Given the description of an element on the screen output the (x, y) to click on. 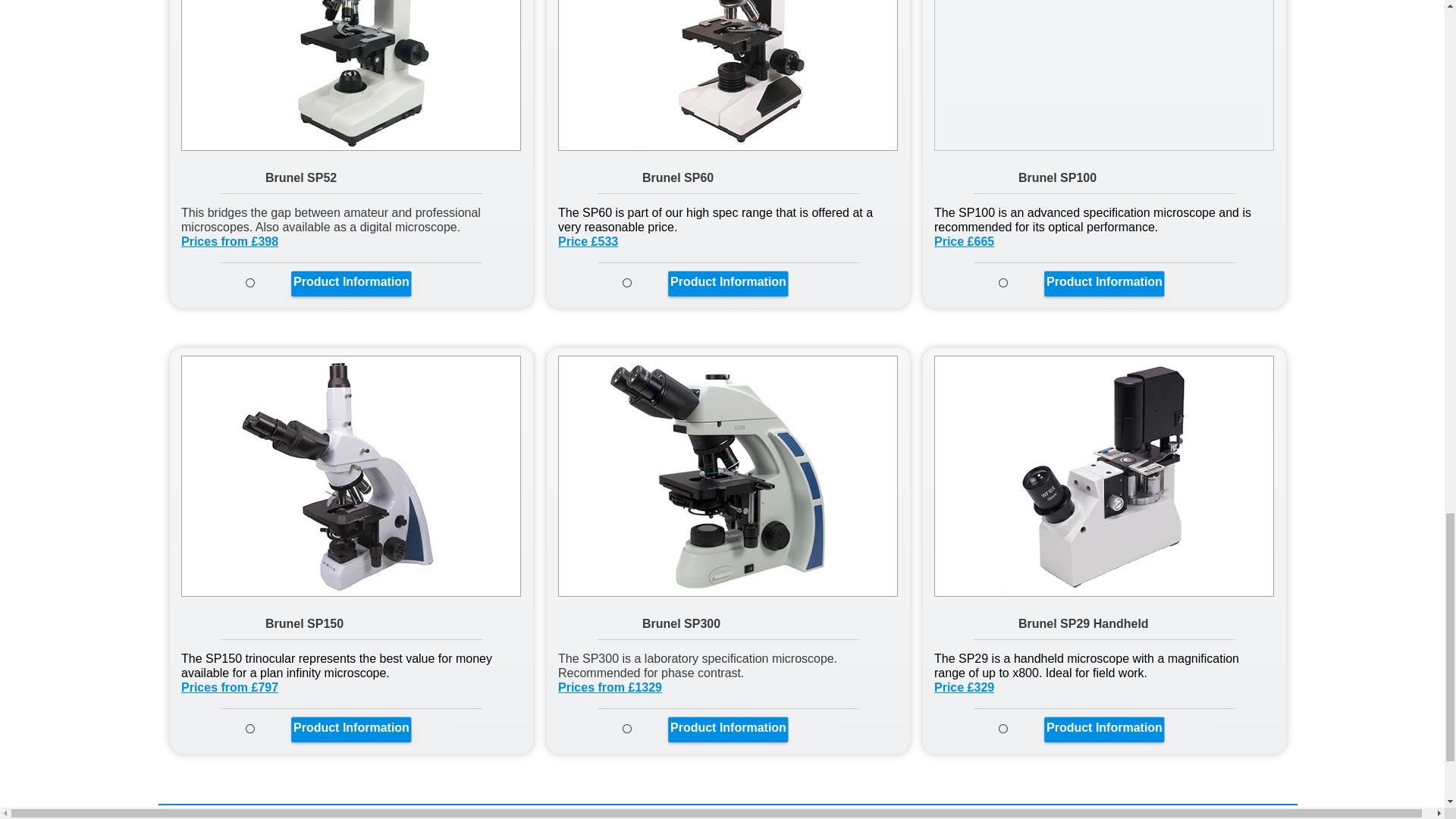
Product Information (727, 727)
Product Information (1103, 281)
Product Information (1103, 727)
Product Information (351, 281)
Product Information (727, 281)
Product Information (351, 727)
